Given the description of an element on the screen output the (x, y) to click on. 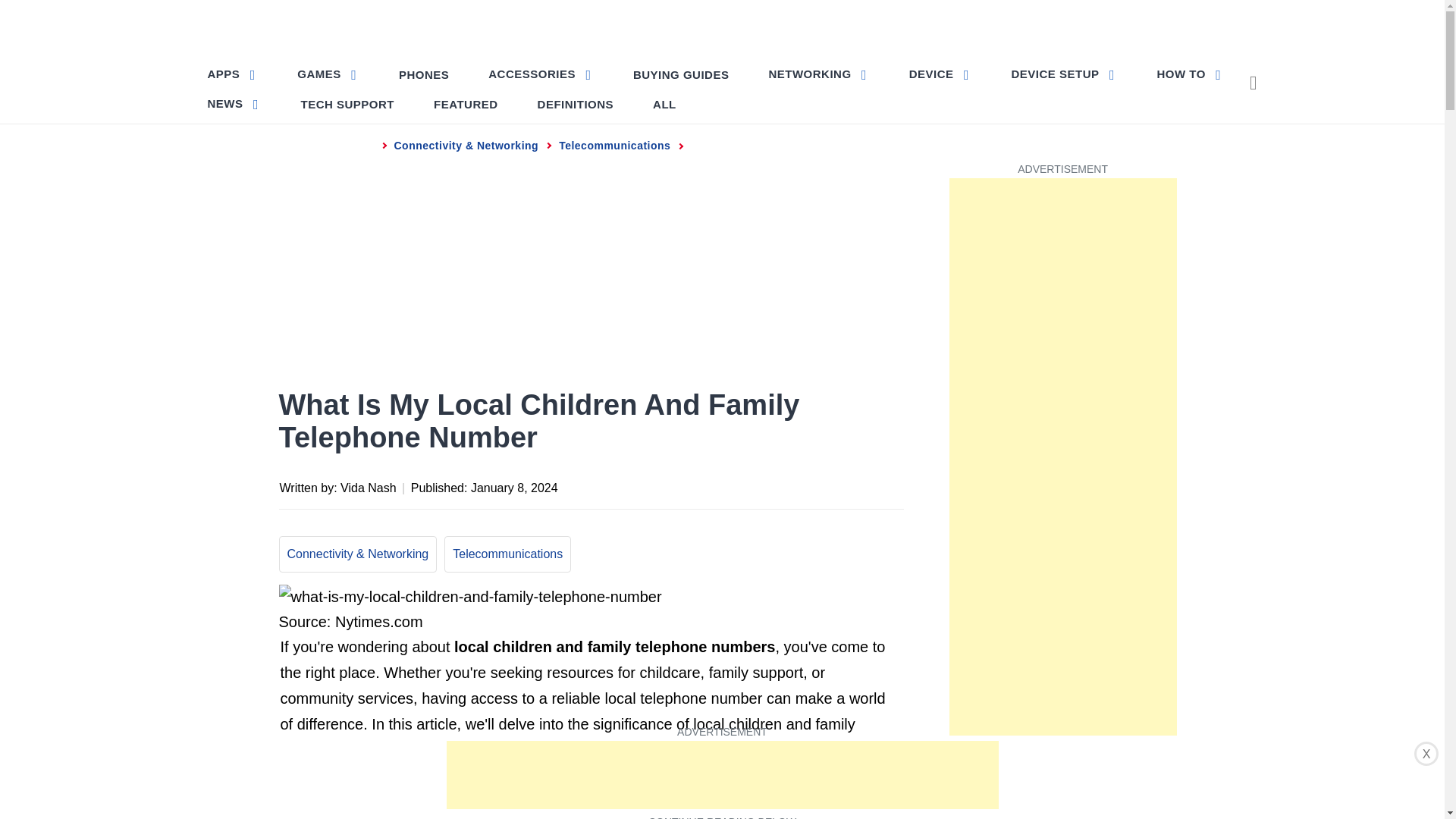
DEVICE (940, 73)
Share on Whatsapp (829, 486)
Share on facebook (740, 486)
Share on twitter (769, 486)
Share on Pinterest (800, 486)
APPS (233, 73)
BUYING GUIDES (681, 74)
Copy to Clipboard (860, 486)
ACCESSORIES (540, 73)
Mail the Link (890, 486)
NETWORKING (818, 73)
PHONES (424, 74)
GAMES (327, 73)
